Given the description of an element on the screen output the (x, y) to click on. 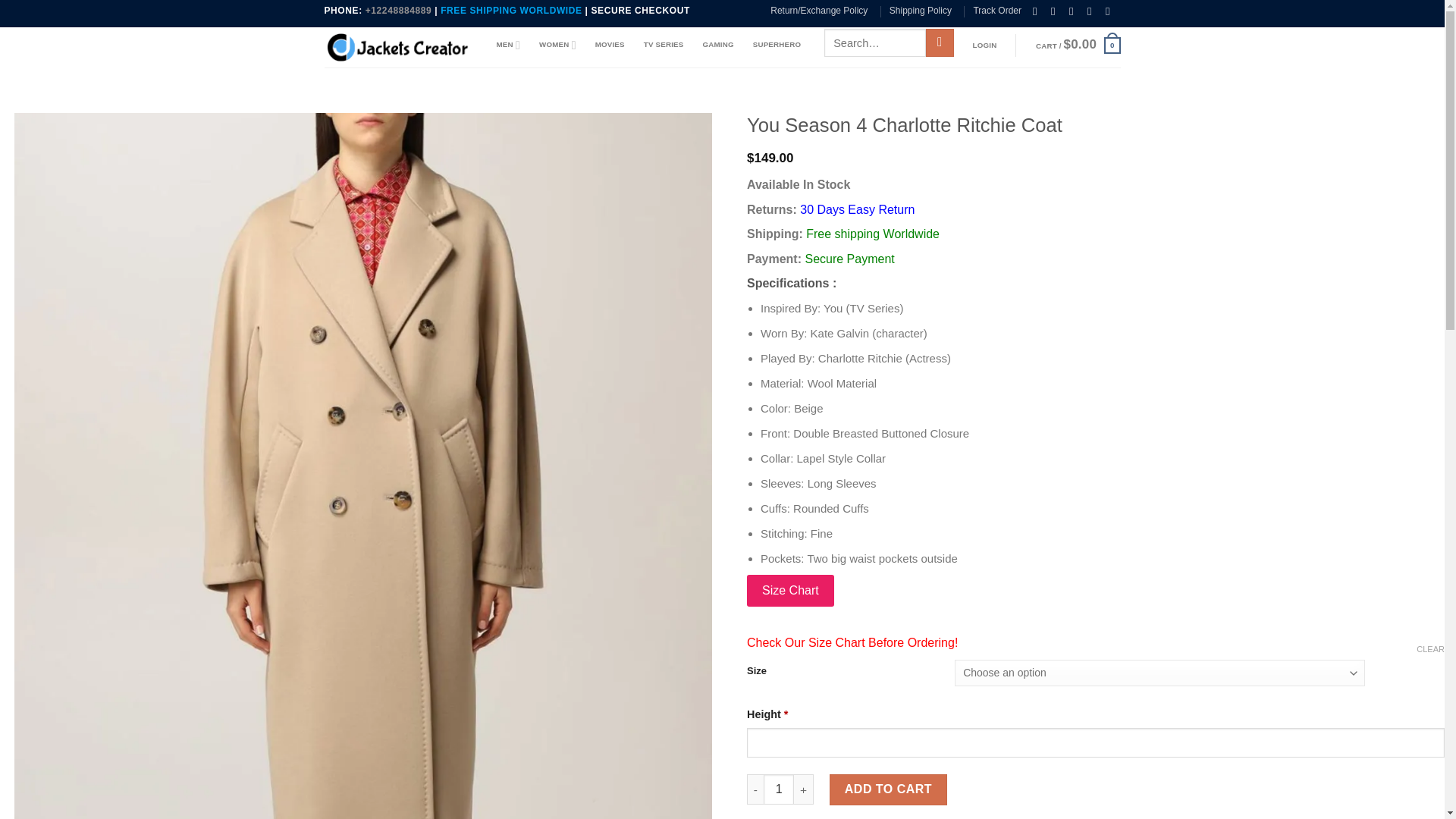
WOMEN (557, 44)
1 (777, 788)
Shipping Policy (920, 11)
GAMING (717, 44)
Cart (1078, 45)
Track Order (997, 11)
Jackets Creator (399, 47)
TV SERIES (663, 44)
